Given the description of an element on the screen output the (x, y) to click on. 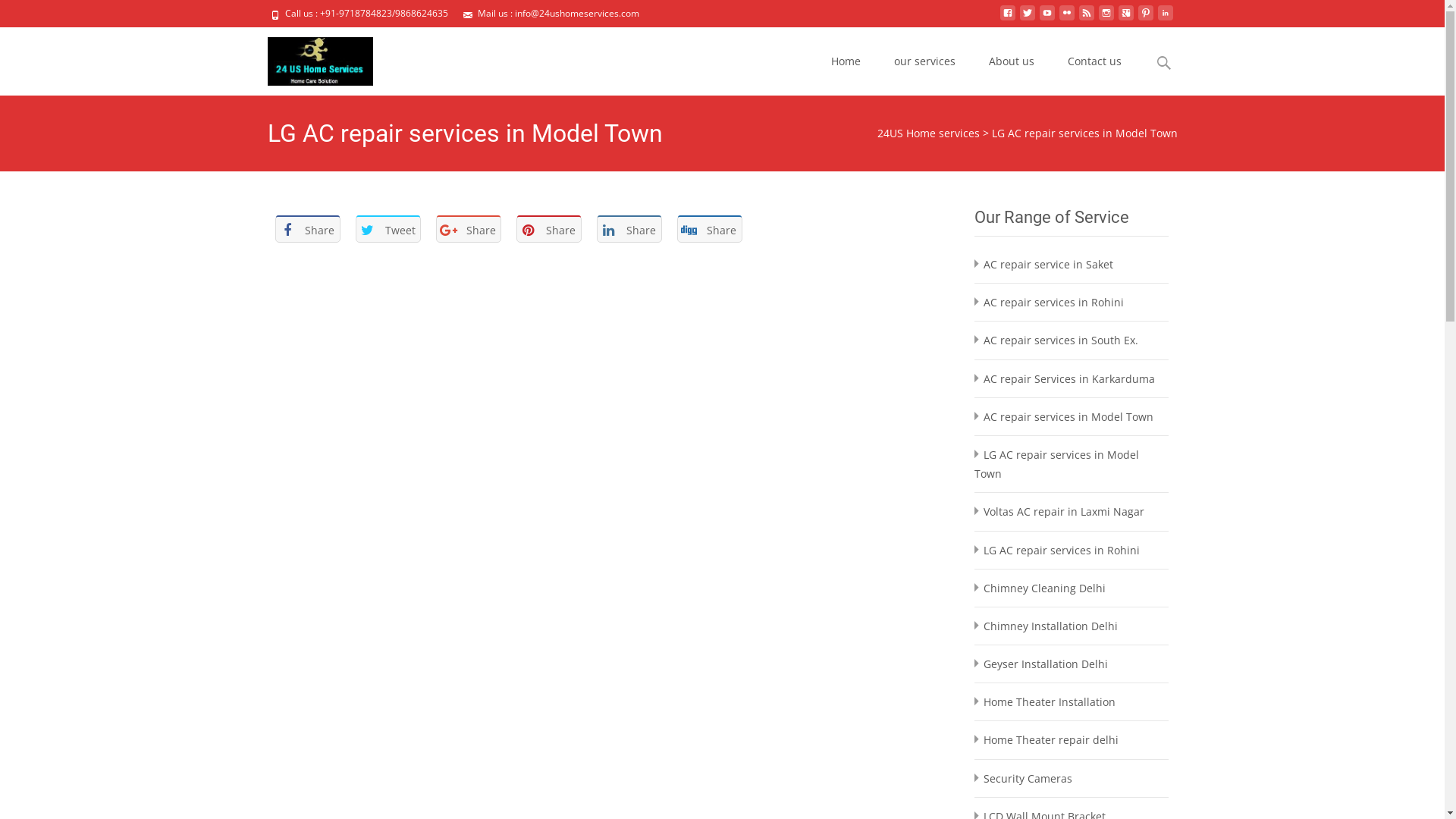
AC repair services in Rohini Element type: text (1052, 301)
AC repair services in South Ex. Element type: text (1059, 339)
Security Cameras Element type: text (1026, 778)
feed Element type: hover (1085, 18)
Voltas AC repair in Laxmi Nagar Element type: text (1062, 511)
youtube Element type: hover (1046, 18)
LG AC repair services in Rohini Element type: text (1060, 549)
googleplus Element type: hover (1124, 18)
Search for: Element type: hover (1163, 63)
Chimney Installation Delhi Element type: text (1049, 625)
Home Theater repair delhi Element type: text (1049, 739)
Home Element type: text (845, 61)
24US Home services Element type: text (927, 132)
Share Element type: text (467, 228)
facebook Element type: hover (1006, 18)
Chimney Cleaning Delhi Element type: text (1043, 587)
AC repair service in Saket Element type: text (1047, 264)
flickr Element type: hover (1065, 18)
instagram Element type: hover (1105, 18)
Share Element type: text (708, 228)
pinterest Element type: hover (1144, 18)
Skip to content Element type: text (853, 36)
Search Element type: text (18, 15)
linkedin Element type: hover (1164, 18)
our services Element type: text (923, 61)
Share Element type: text (306, 228)
AC repair services in Model Town Element type: text (1067, 416)
Share Element type: text (628, 228)
Contact us Element type: text (1094, 61)
Tweet Element type: text (387, 228)
Geyser Installation Delhi Element type: text (1044, 663)
LG AC repair services in Model Town Element type: text (1055, 463)
About us Element type: text (1011, 61)
twitter Element type: hover (1026, 18)
Share Element type: text (547, 228)
Home Theater Installation Element type: text (1048, 701)
24US Home services Element type: hover (307, 57)
AC repair Services in Karkarduma Element type: text (1068, 378)
